Given the description of an element on the screen output the (x, y) to click on. 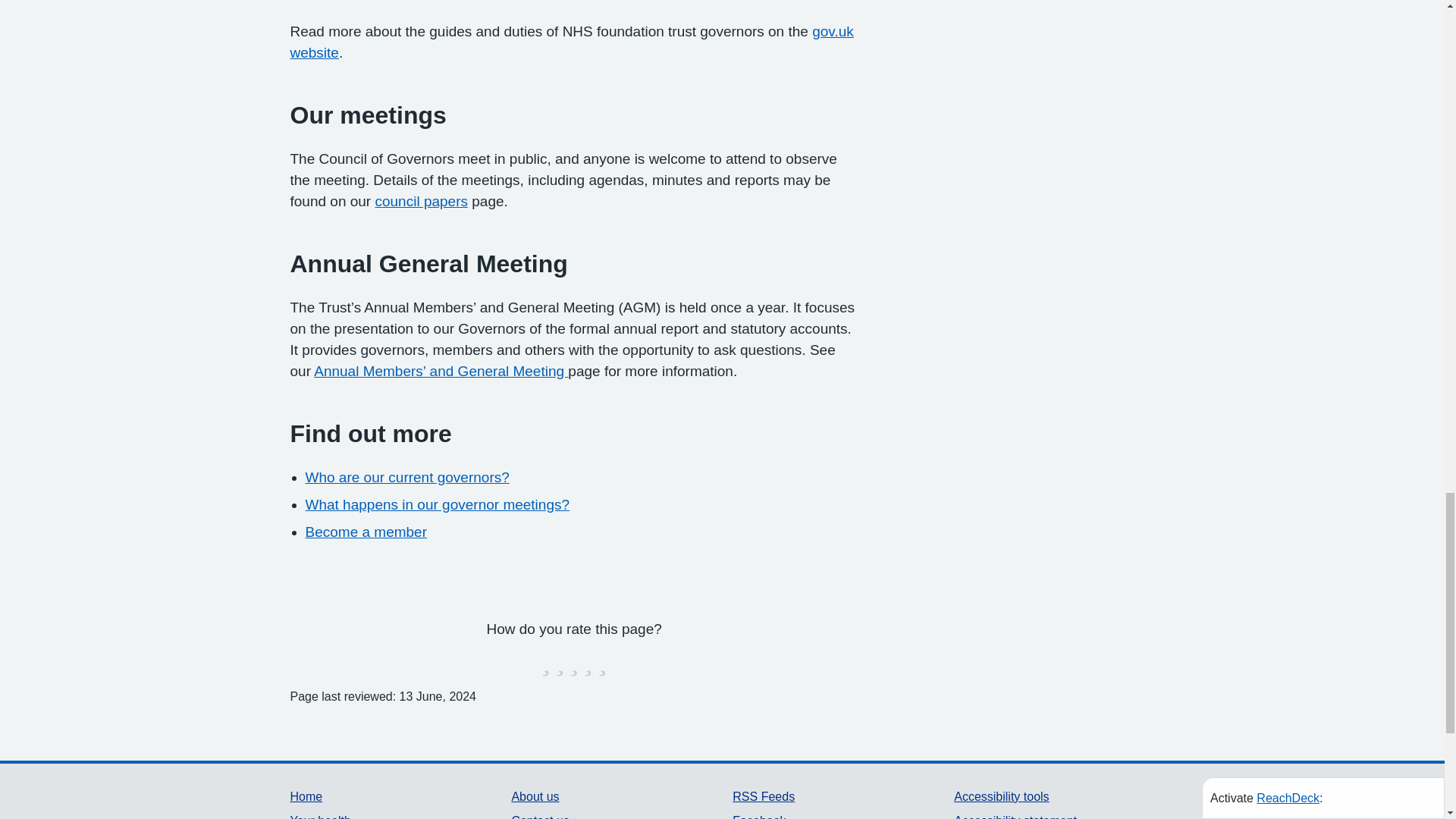
Become a member (365, 531)
Who are our current governors? (406, 477)
gov.uk website (571, 41)
What happens in our governor meetings? (436, 504)
council papers (420, 201)
